Given the description of an element on the screen output the (x, y) to click on. 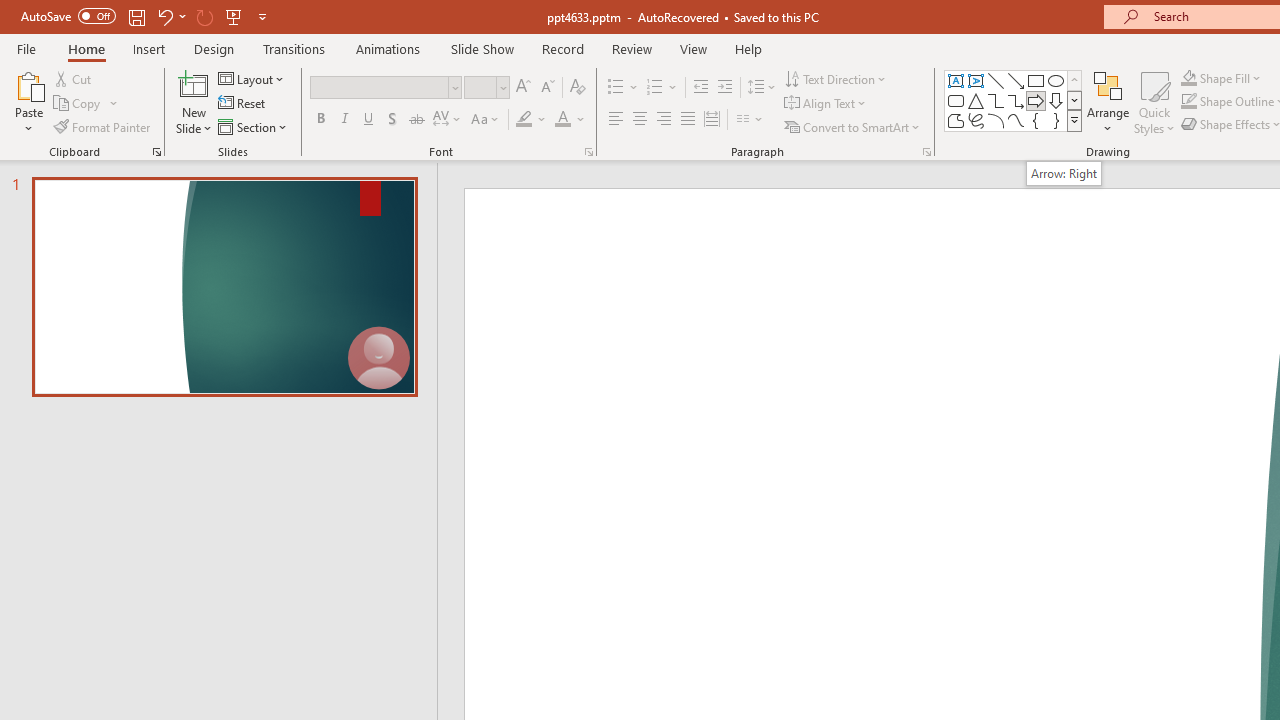
Office Clipboard... (156, 151)
Format Painter (103, 126)
Left Brace (1035, 120)
Align Right (663, 119)
Shadow (392, 119)
Clear Formatting (577, 87)
Freeform: Scribble (975, 120)
Decrease Font Size (547, 87)
Distributed (712, 119)
Cut (73, 78)
